Given the description of an element on the screen output the (x, y) to click on. 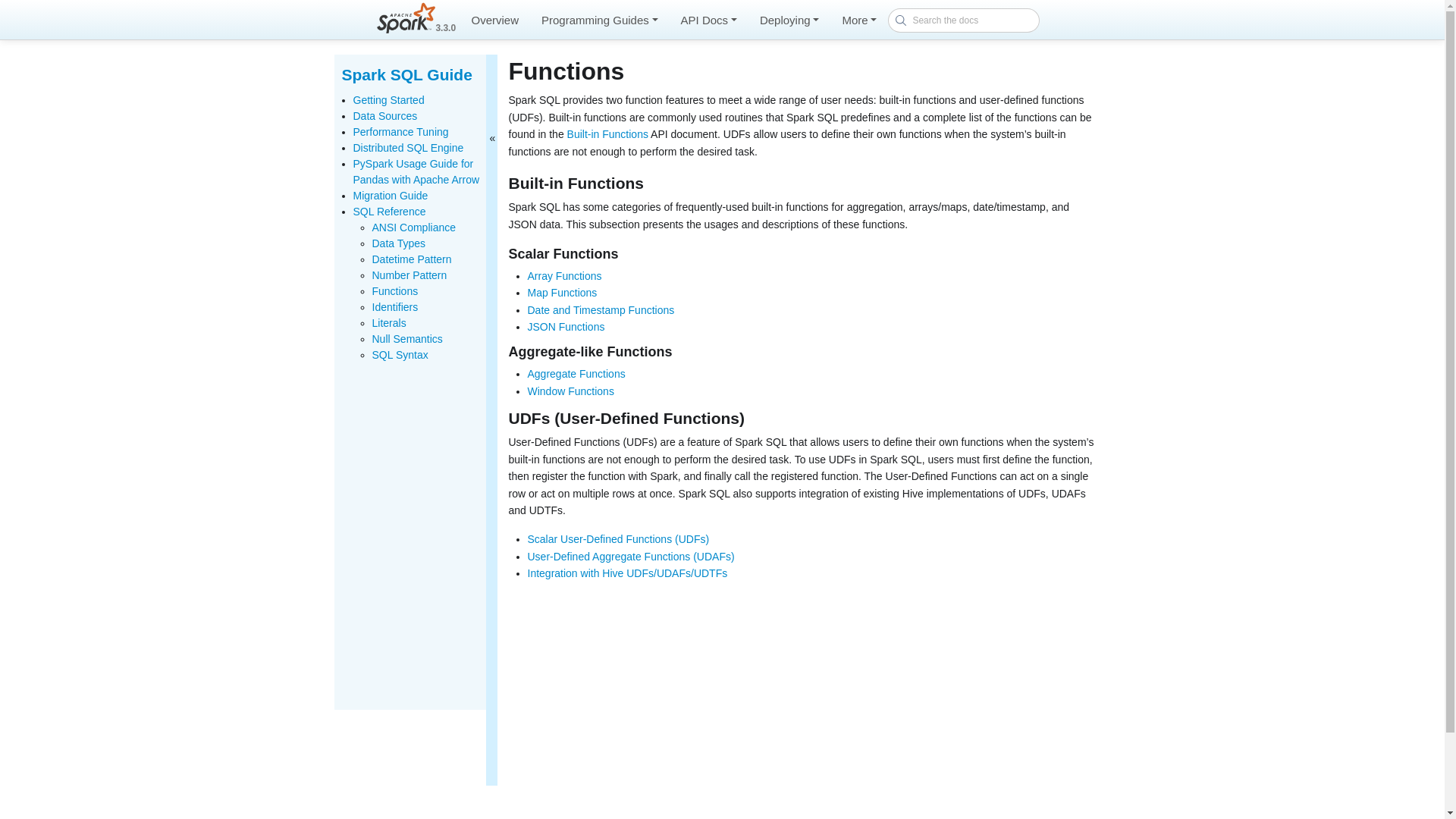
Deploying (789, 20)
More (858, 20)
API Docs (708, 20)
Overview (494, 20)
Programming Guides (599, 20)
Submit your search query. (900, 20)
Spark SQL Guide (405, 74)
on (338, 59)
